Given the description of an element on the screen output the (x, y) to click on. 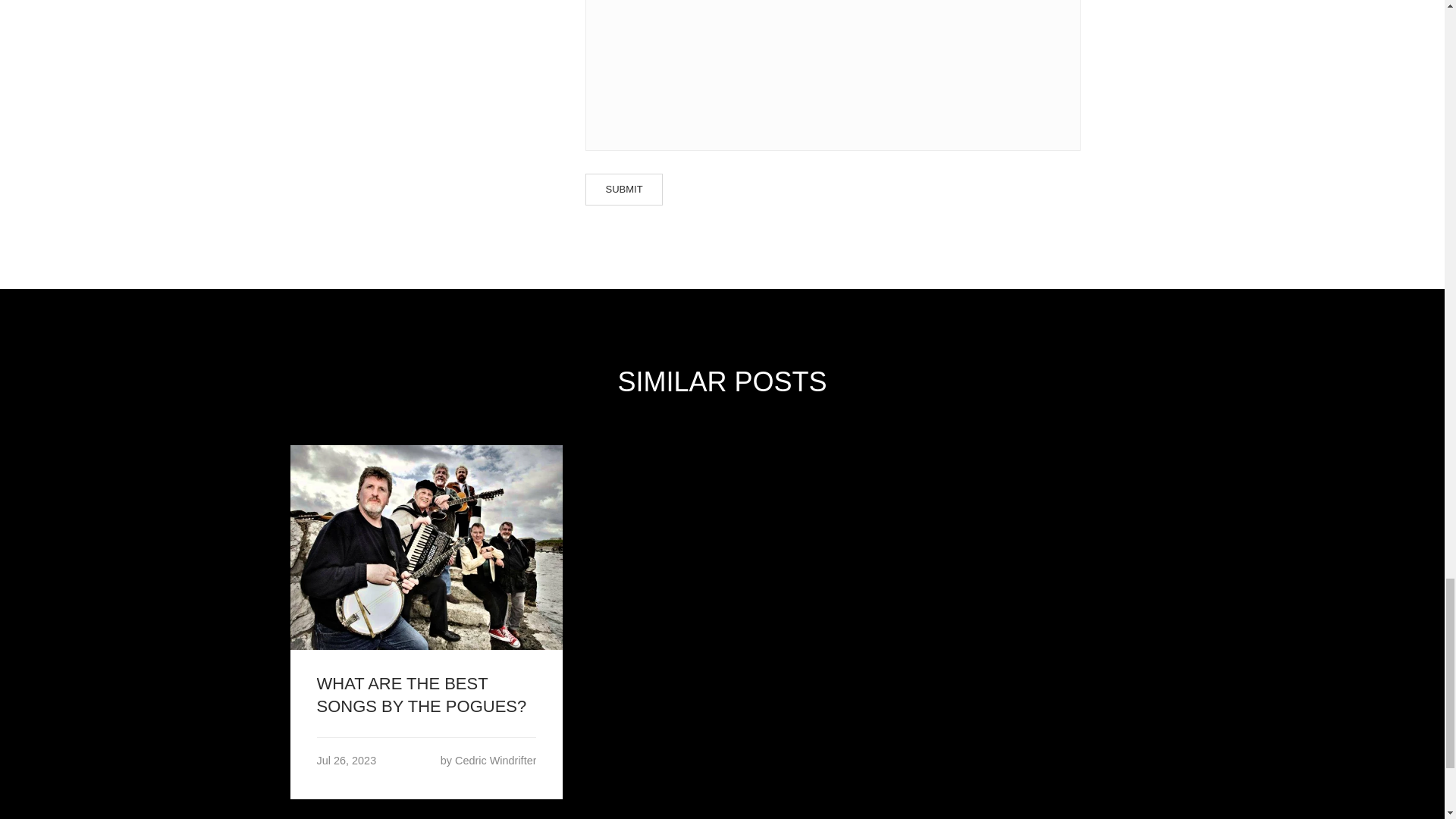
Tell us what you think! (832, 75)
Submit (623, 189)
Submit (623, 189)
